Given the description of an element on the screen output the (x, y) to click on. 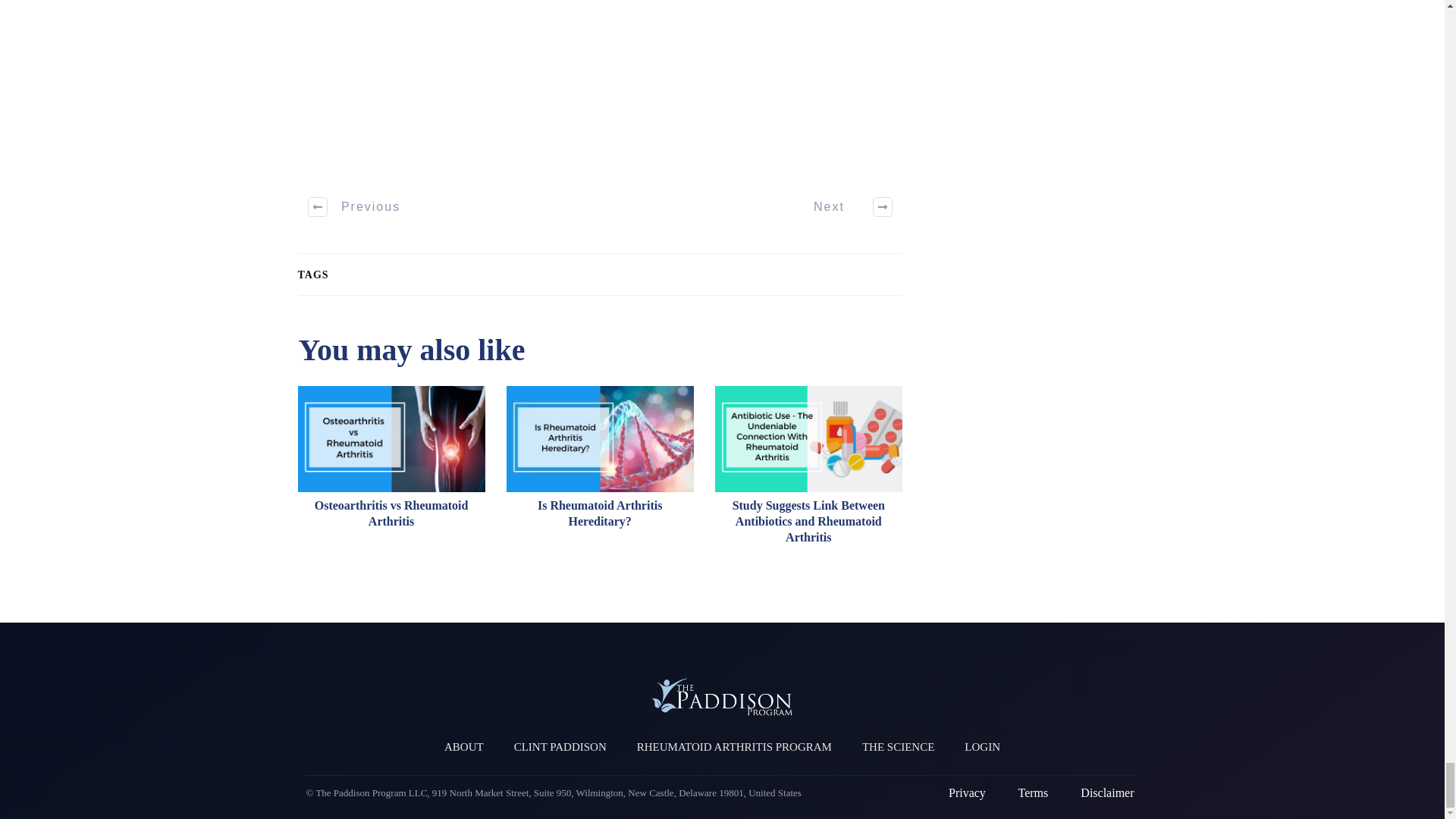
Previous (355, 207)
Is Rheumatoid Arthritis Hereditary? (600, 472)
Next (844, 207)
Osteoarthritis vs Rheumatoid Arthritis (390, 472)
Is Rheumatoid Arthritis Hereditary? (599, 512)
Is Rheumatoid Arthritis Hereditary? (599, 512)
Osteoarthritis vs Rheumatoid Arthritis (391, 512)
